Given the description of an element on the screen output the (x, y) to click on. 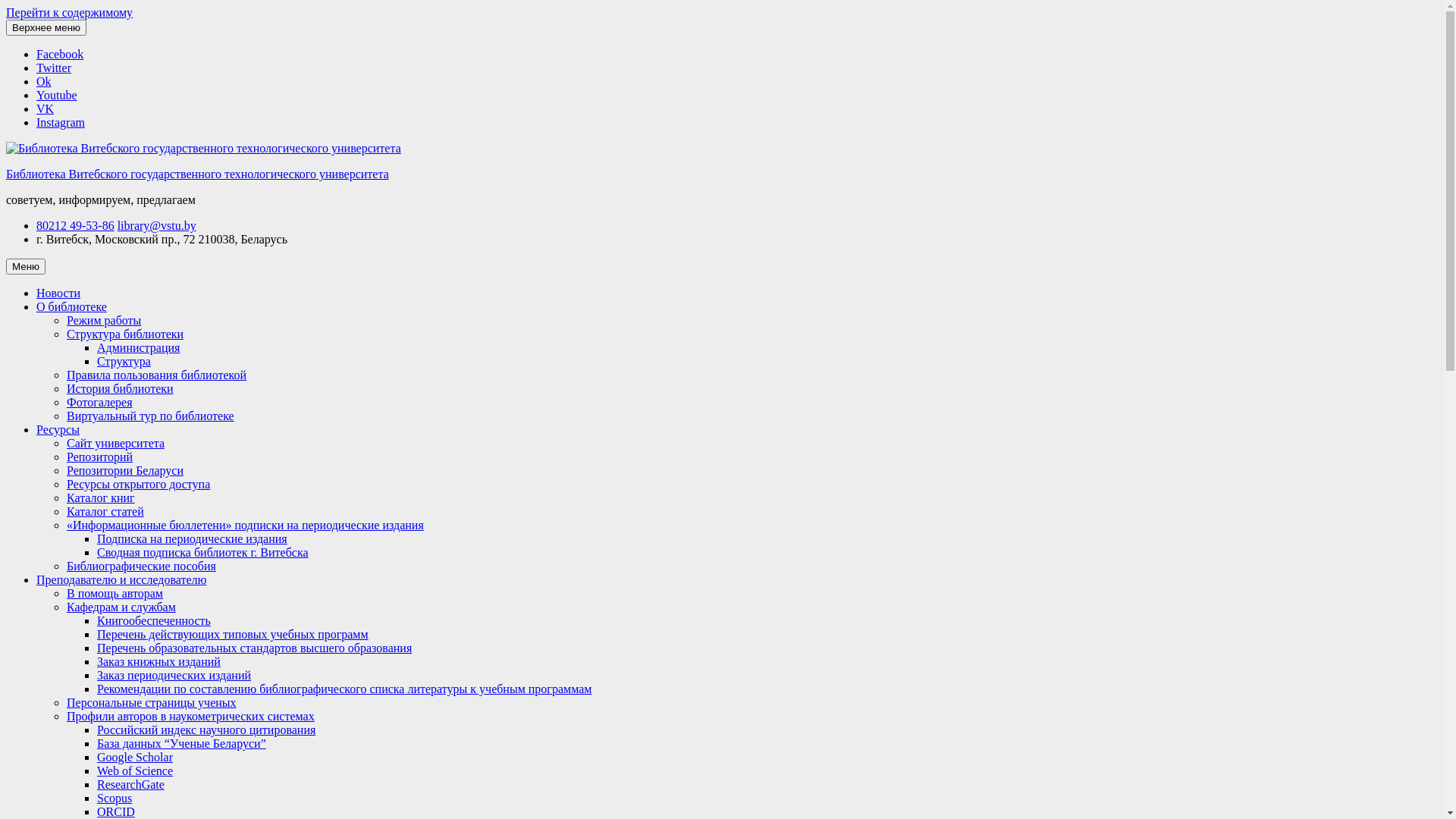
80212 49-53-86 Element type: text (75, 225)
library@vstu.by Element type: text (156, 225)
Youtube Element type: text (56, 94)
ResearchGate Element type: text (130, 784)
Instagram Element type: text (60, 122)
Ok Element type: text (43, 81)
Facebook Element type: text (59, 53)
Scopus Element type: text (114, 797)
VK Element type: text (44, 108)
ORCID Element type: text (115, 811)
Twitter Element type: text (53, 67)
Web of Science Element type: text (134, 770)
Google Scholar Element type: text (134, 756)
